Given the description of an element on the screen output the (x, y) to click on. 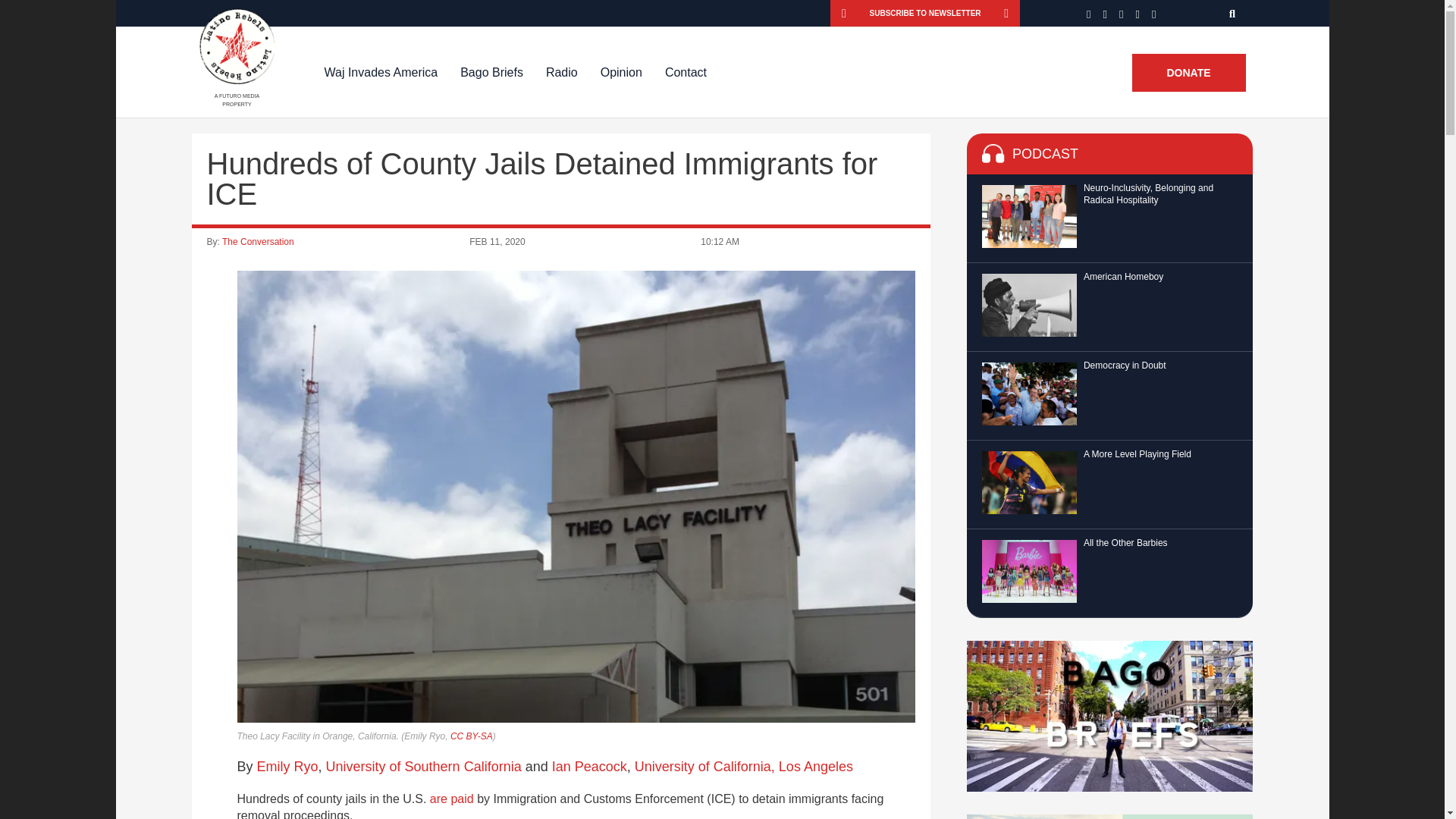
Bago Briefs (491, 72)
Emily Ryo (287, 766)
Posts by The Conversation (258, 241)
Search (1233, 13)
Subscribe to newsletter (924, 13)
DONATE (1187, 72)
Waj Invades America (380, 72)
Search (1233, 13)
are paid (451, 798)
Ian Peacock (589, 766)
